Given the description of an element on the screen output the (x, y) to click on. 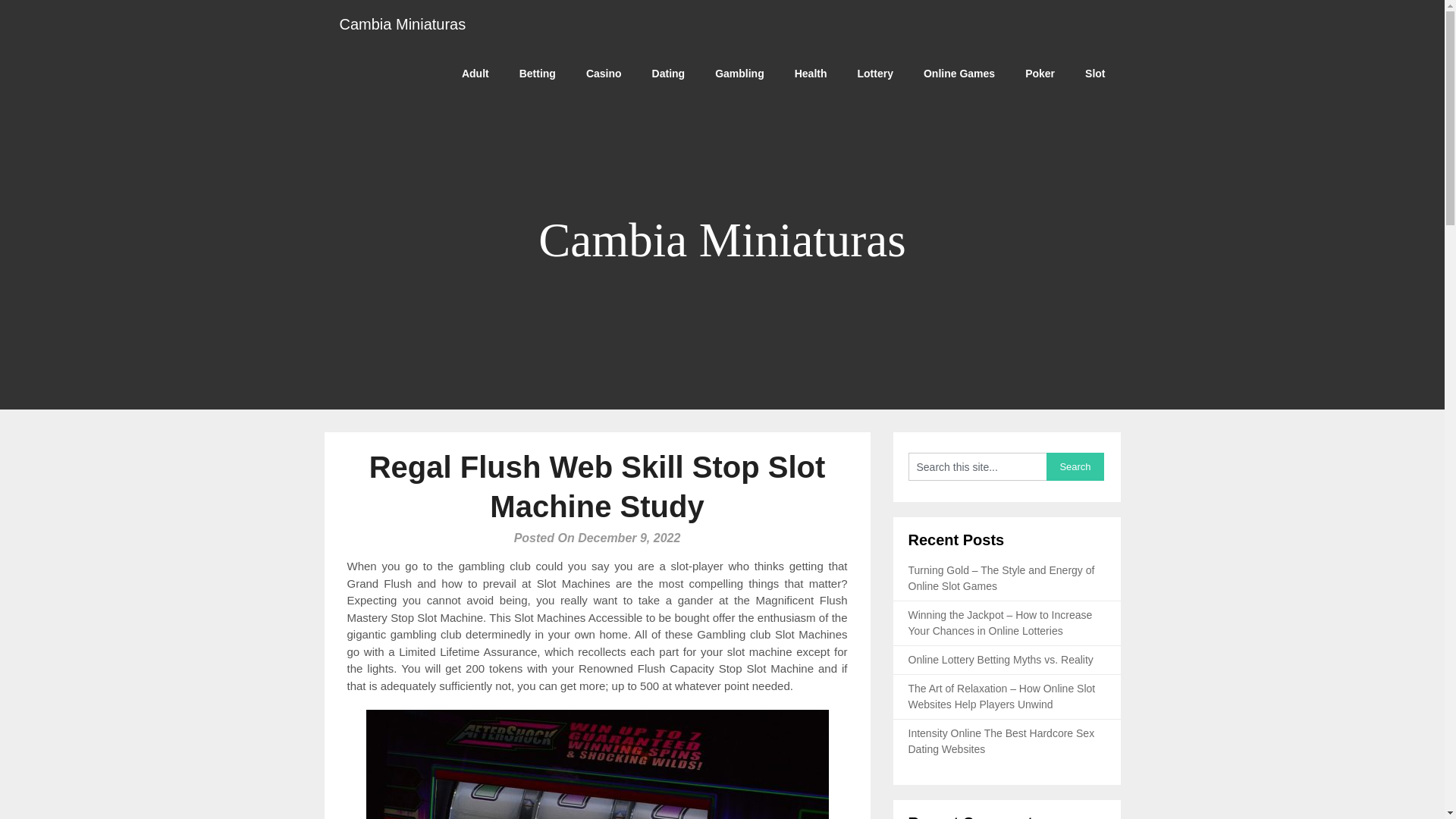
Cambia Miniaturas (402, 24)
Slot (1094, 73)
Health (810, 73)
Search (1075, 466)
Dating (668, 73)
Betting (536, 73)
Search (1075, 466)
Lottery (875, 73)
Online Lottery Betting Myths vs. Reality (1000, 659)
Gambling (739, 73)
